Given the description of an element on the screen output the (x, y) to click on. 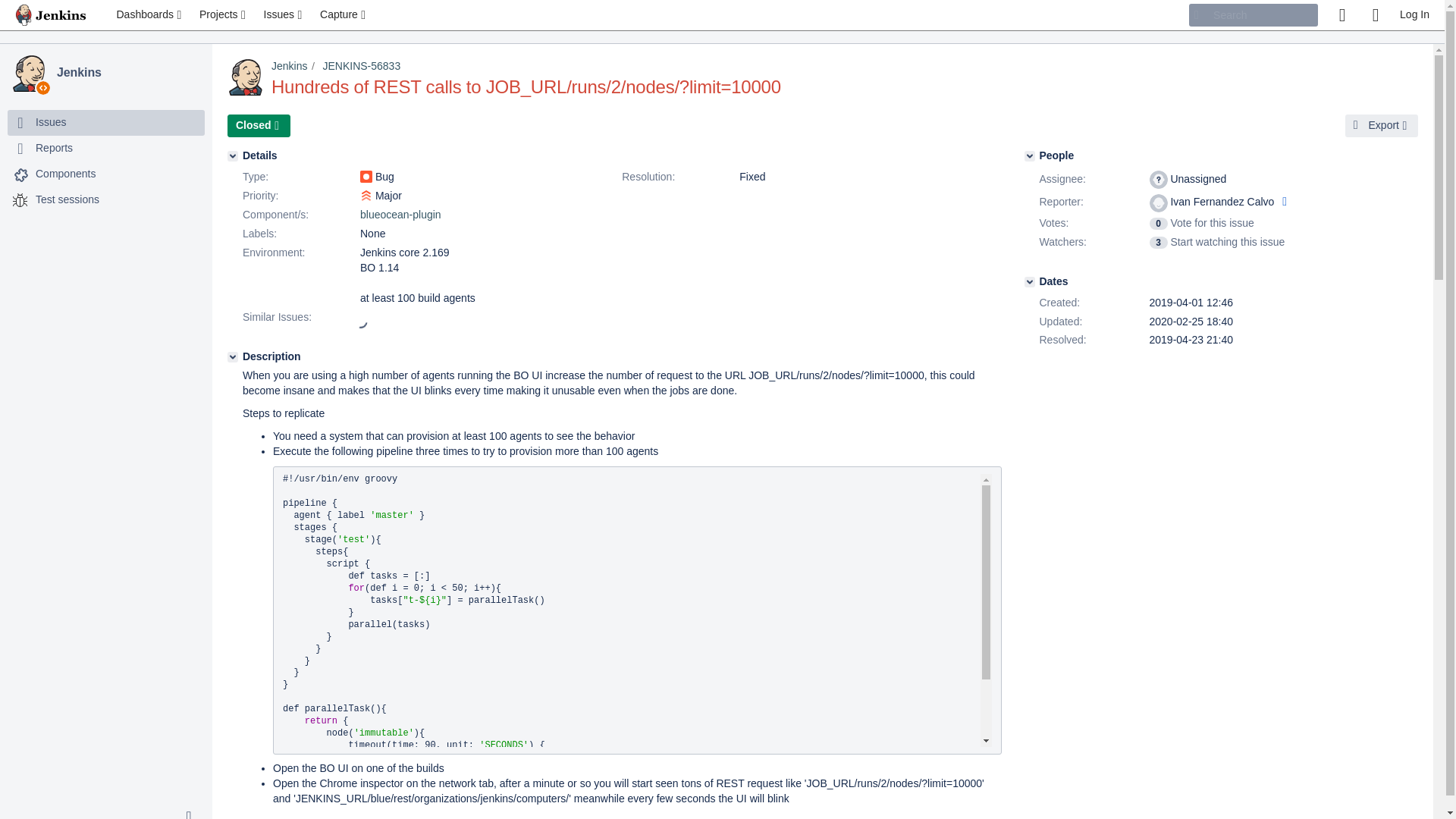
Reports (53, 148)
Issues (284, 15)
Issues (49, 122)
Issues (106, 122)
Details (232, 155)
Log In (1414, 15)
Components (106, 174)
Components (65, 174)
View and manage your dashboards (150, 15)
Help (1374, 15)
